Given the description of an element on the screen output the (x, y) to click on. 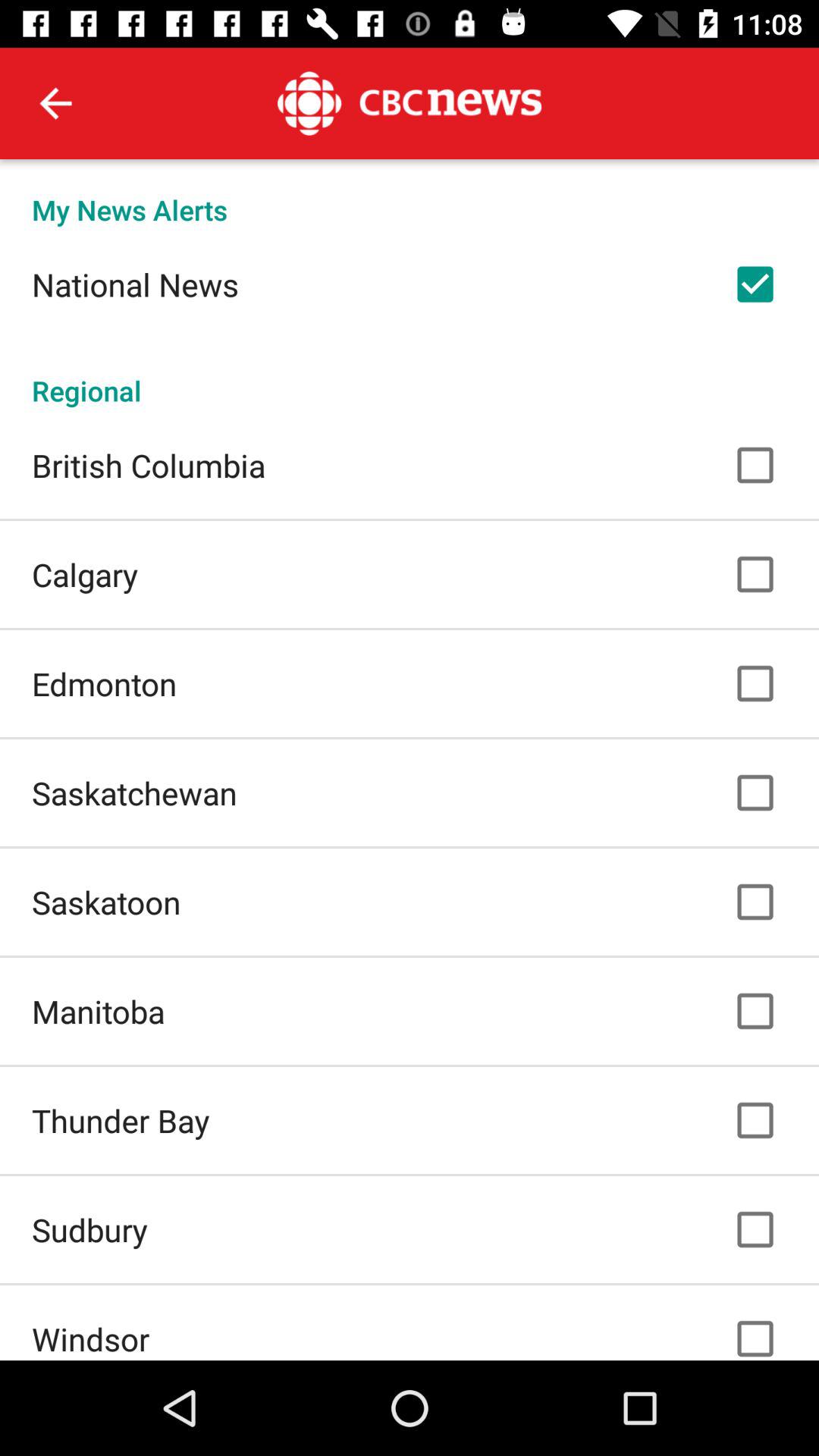
turn off the icon below calgary (103, 683)
